Given the description of an element on the screen output the (x, y) to click on. 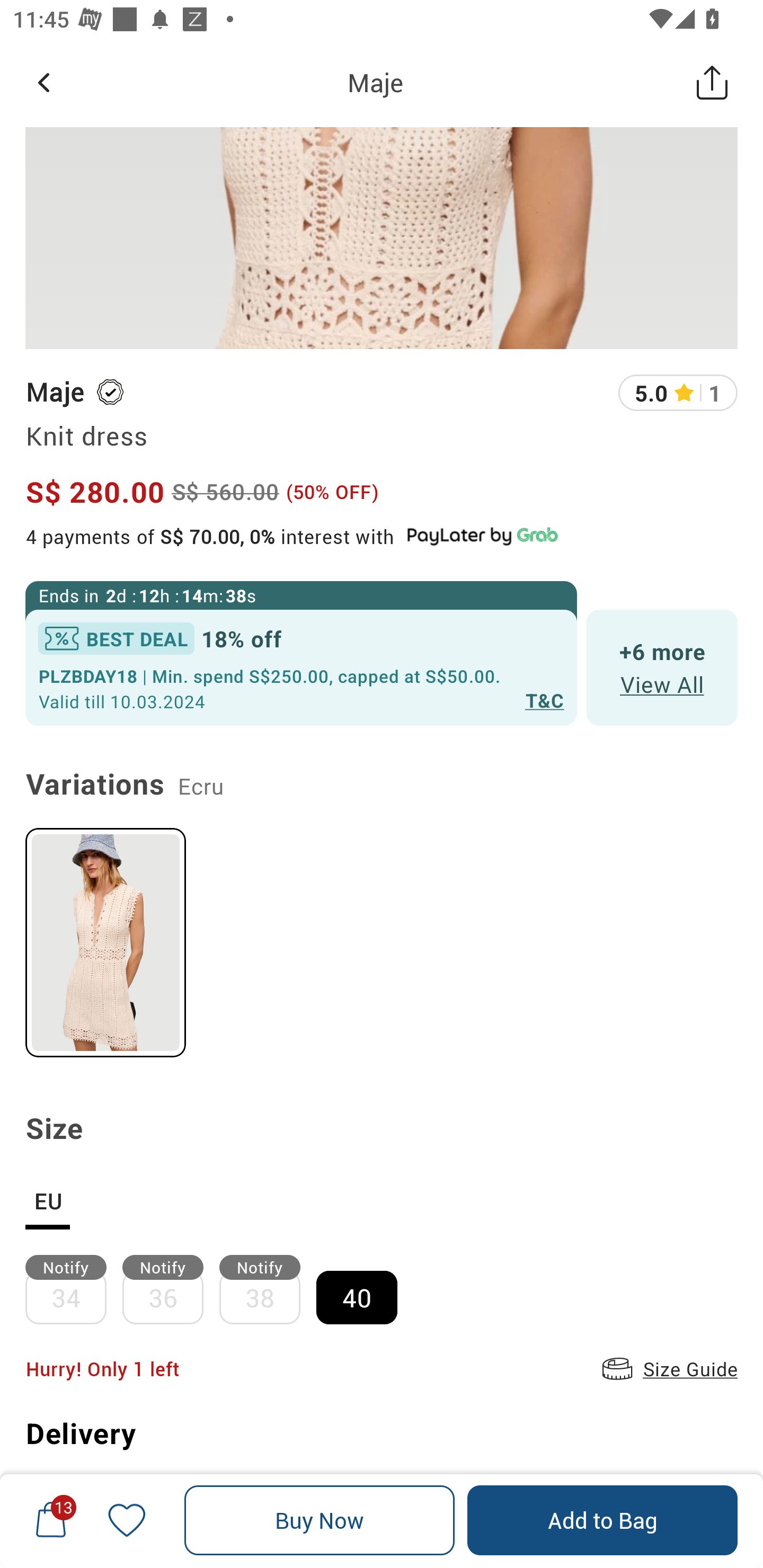
Maje (375, 82)
Share this Product (711, 82)
Maje (54, 391)
5.0 1 (677, 392)
+6 more
View All (661, 667)
T&C (544, 699)
Notify 34 (73, 1289)
Notify 36 (170, 1289)
Notify 38 (267, 1289)
40 (364, 1289)
Size Guide (667, 1368)
Buy Now (319, 1519)
Add to Bag (601, 1519)
13 (50, 1520)
